Given the description of an element on the screen output the (x, y) to click on. 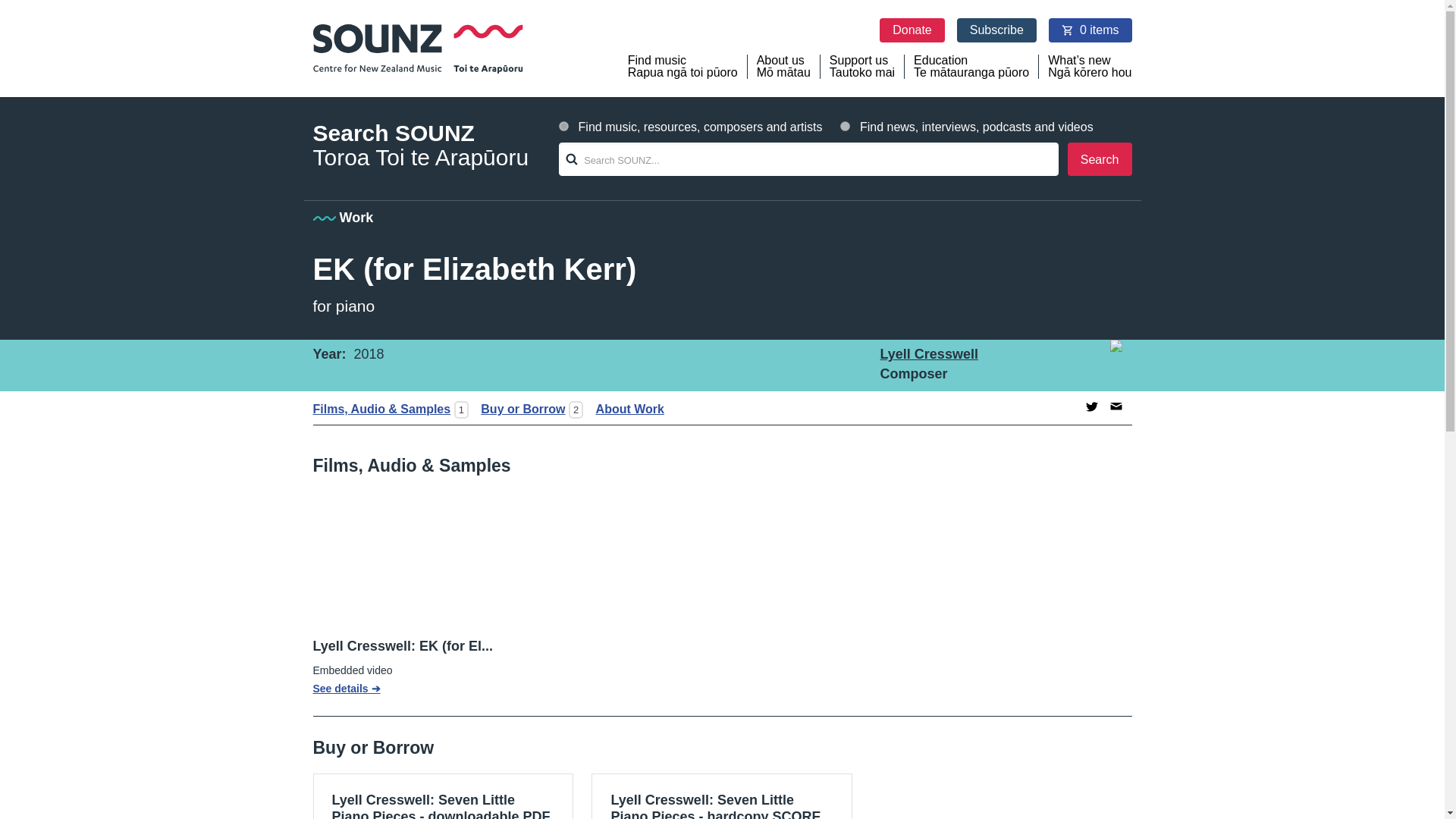
0 items (1090, 30)
catalogue (564, 126)
Search (1099, 159)
Share to Facebook (1067, 406)
Lyell Cresswell (927, 353)
Share to Email (1115, 406)
Donate (911, 30)
content (845, 126)
